Given the description of an element on the screen output the (x, y) to click on. 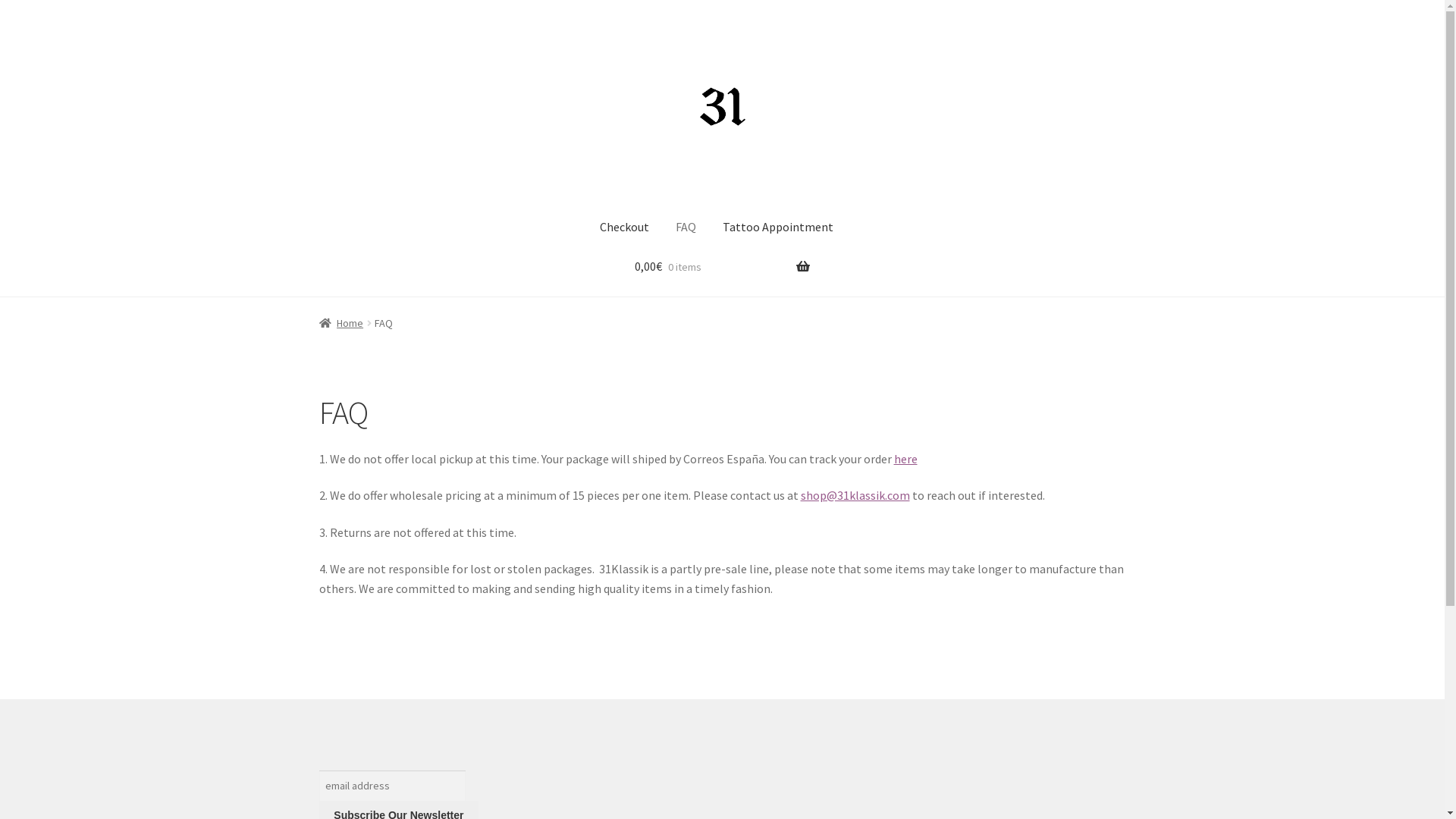
here Element type: text (905, 458)
shop@31klassik.com Element type: text (855, 494)
Skip to navigation Element type: text (318, 31)
FAQ Element type: text (684, 227)
Tattoo Appointment Element type: text (776, 227)
Home Element type: text (341, 322)
Checkout Element type: text (623, 227)
